Given the description of an element on the screen output the (x, y) to click on. 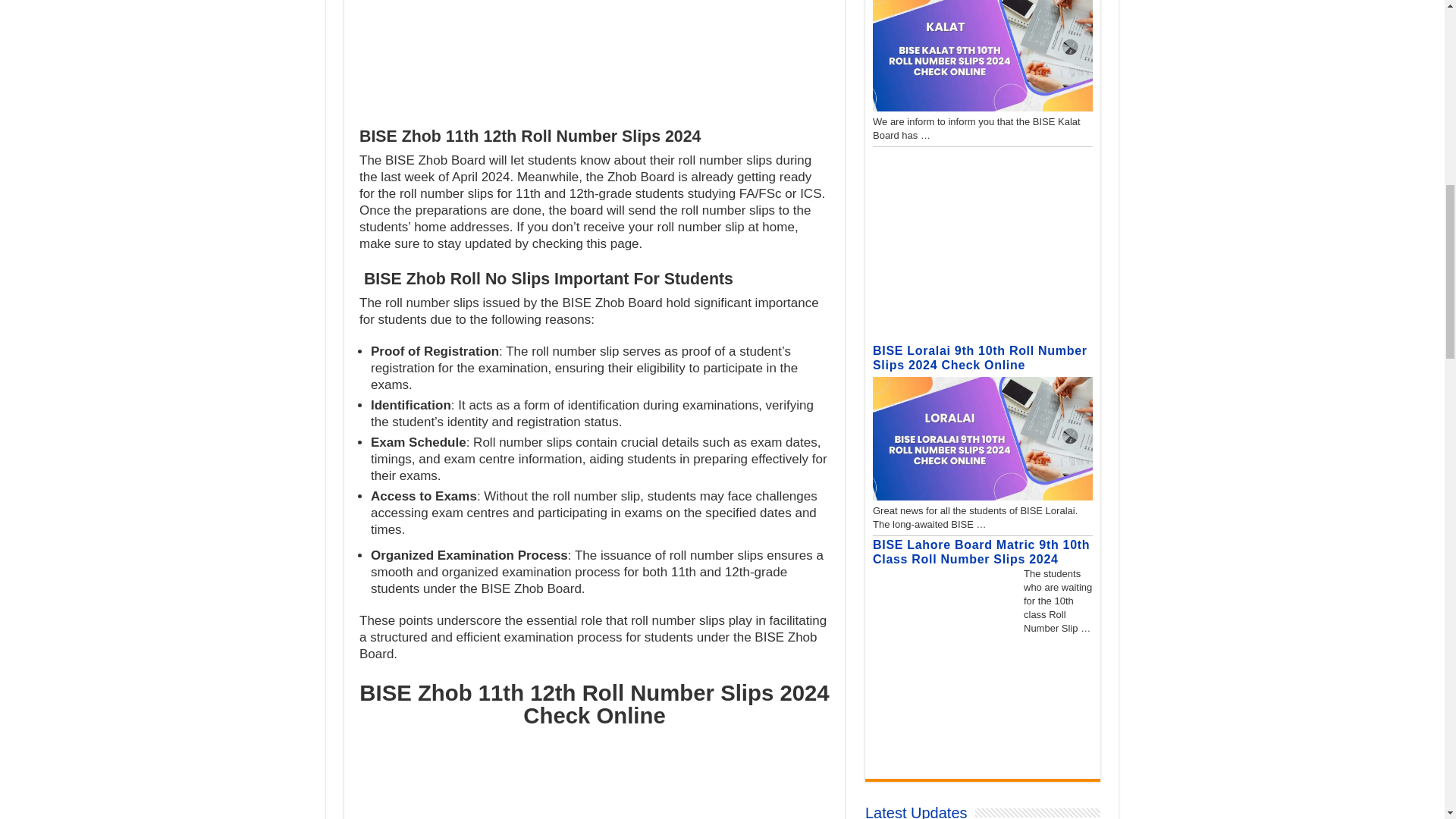
Advertisement (594, 54)
